Given the description of an element on the screen output the (x, y) to click on. 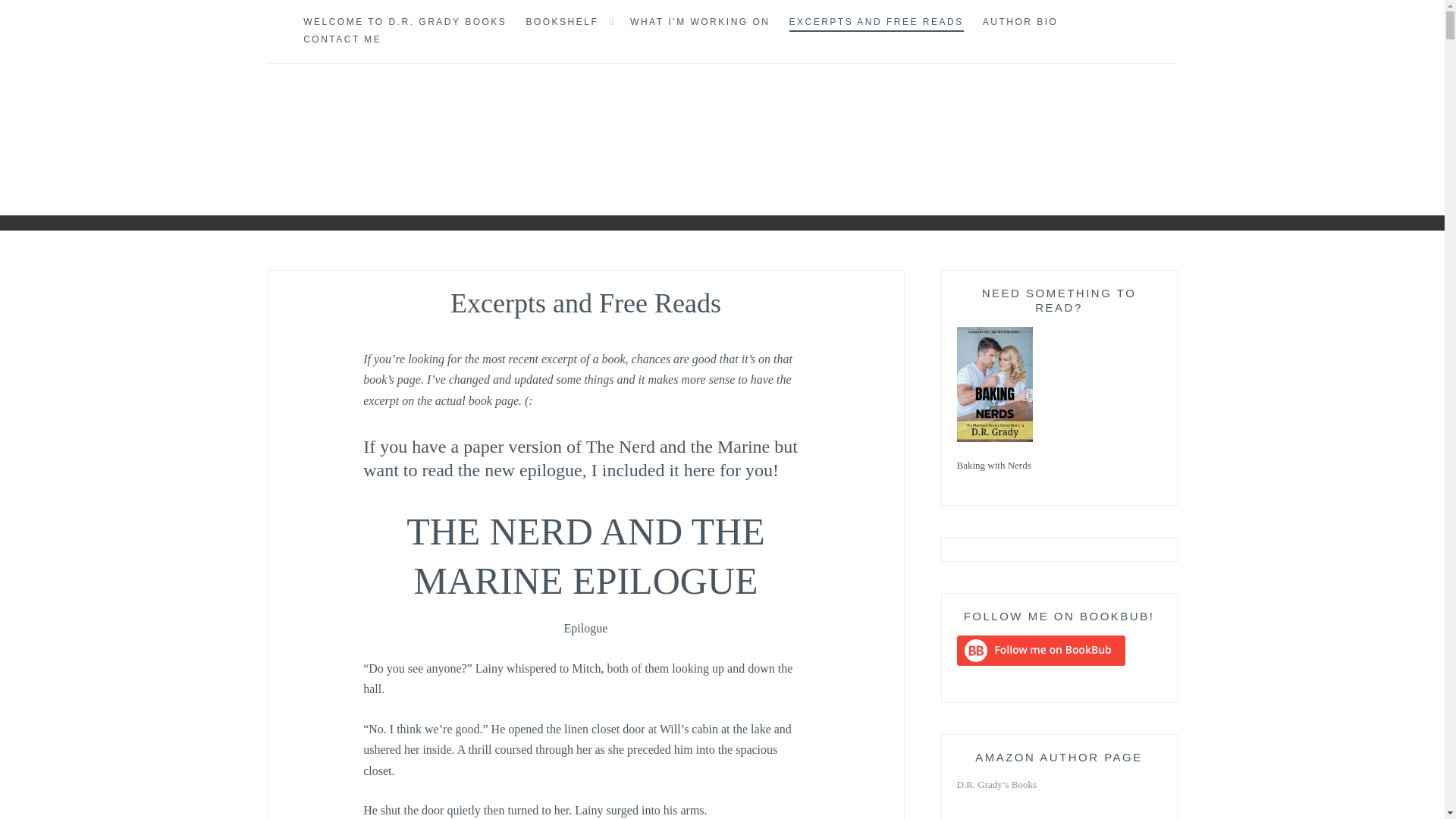
BOOKSHELF (561, 22)
Baking with Nerds (1058, 465)
AUTHOR BIO (1020, 22)
EXCERPTS AND FREE READS (875, 22)
D.R. GRADY BOOKS (196, 158)
WELCOME TO D.R. GRADY BOOKS (404, 22)
CONTACT ME (341, 39)
